Given the description of an element on the screen output the (x, y) to click on. 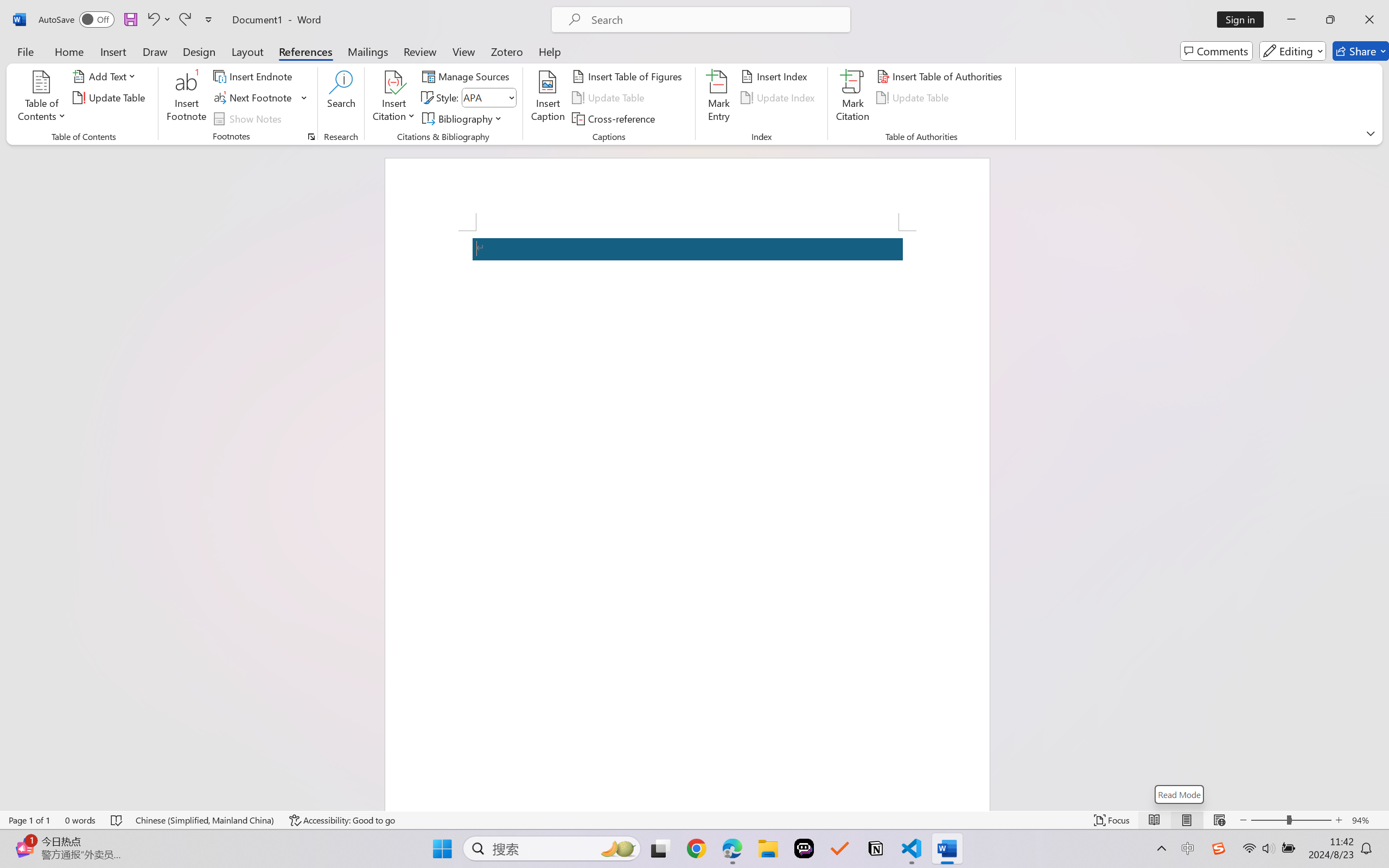
Search (341, 97)
